Given the description of an element on the screen output the (x, y) to click on. 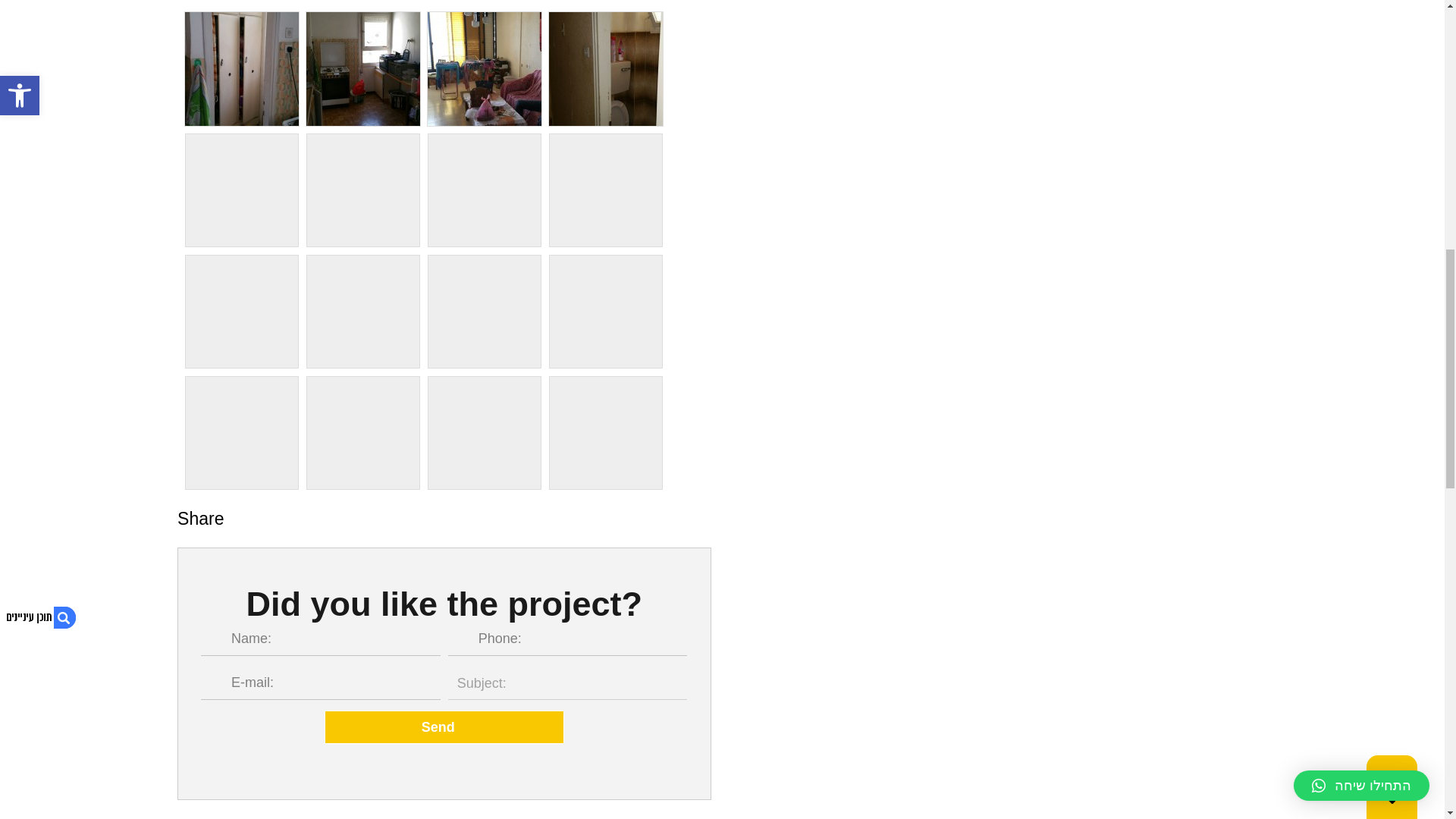
Send (444, 726)
